Given the description of an element on the screen output the (x, y) to click on. 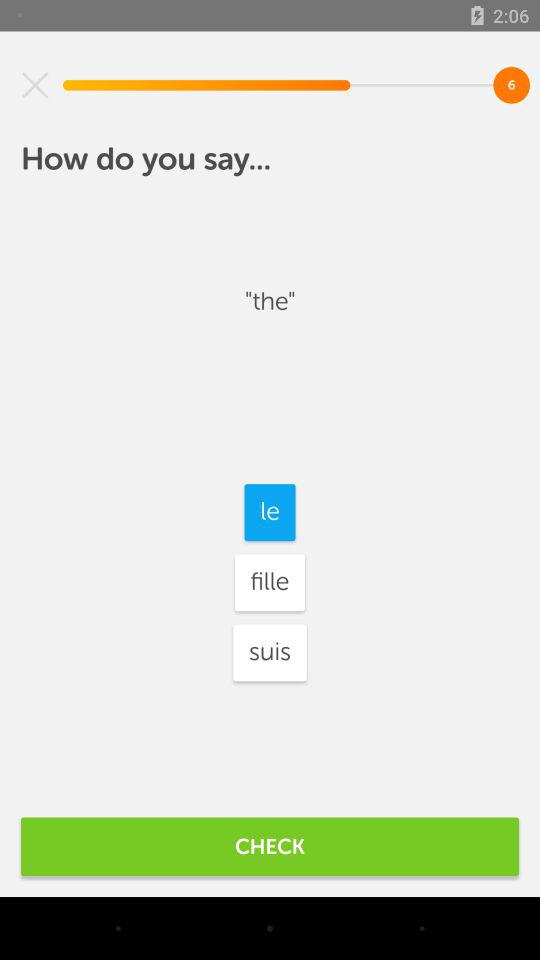
swipe to check (270, 846)
